Given the description of an element on the screen output the (x, y) to click on. 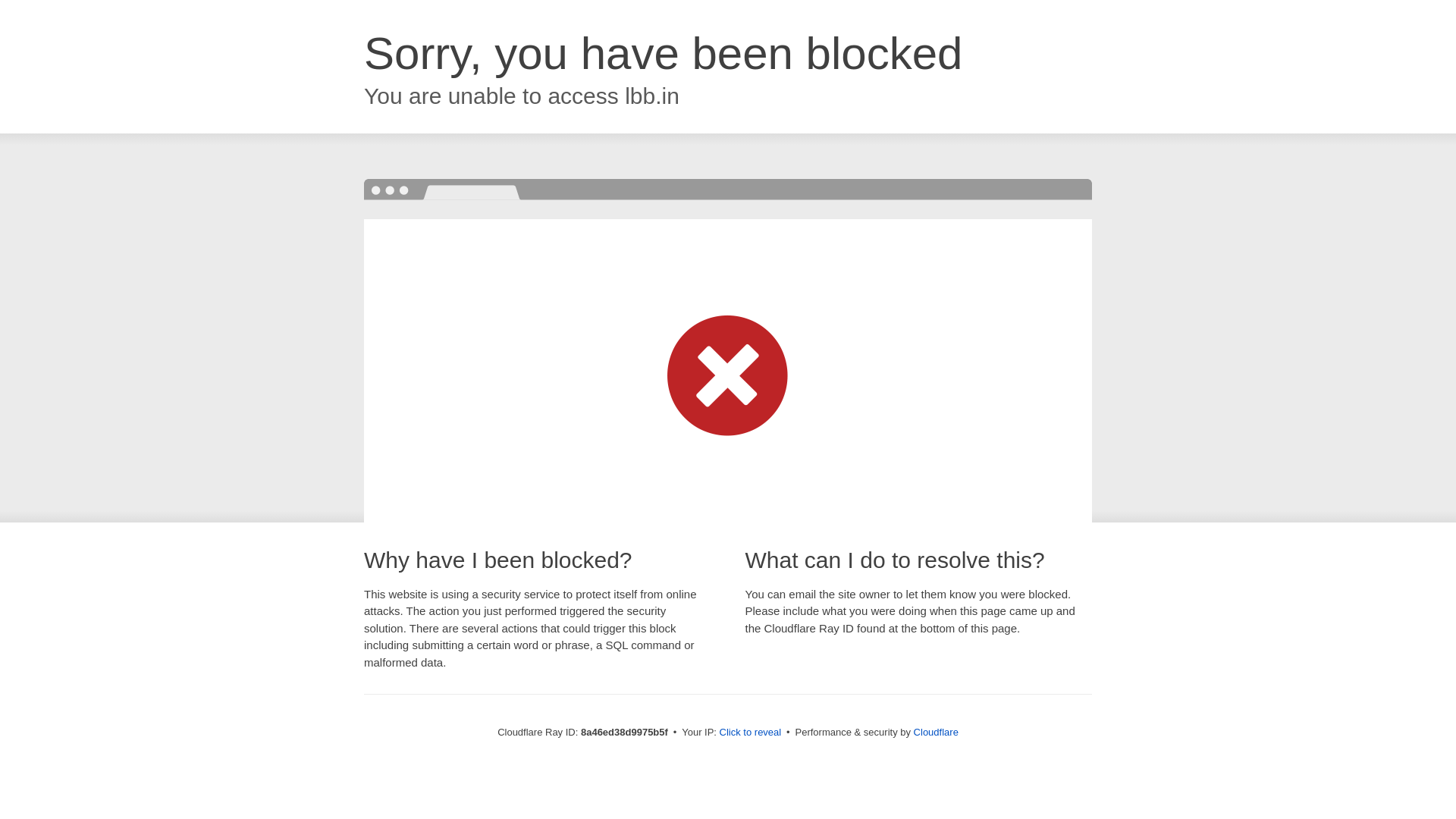
Cloudflare (936, 731)
Click to reveal (750, 732)
